Given the description of an element on the screen output the (x, y) to click on. 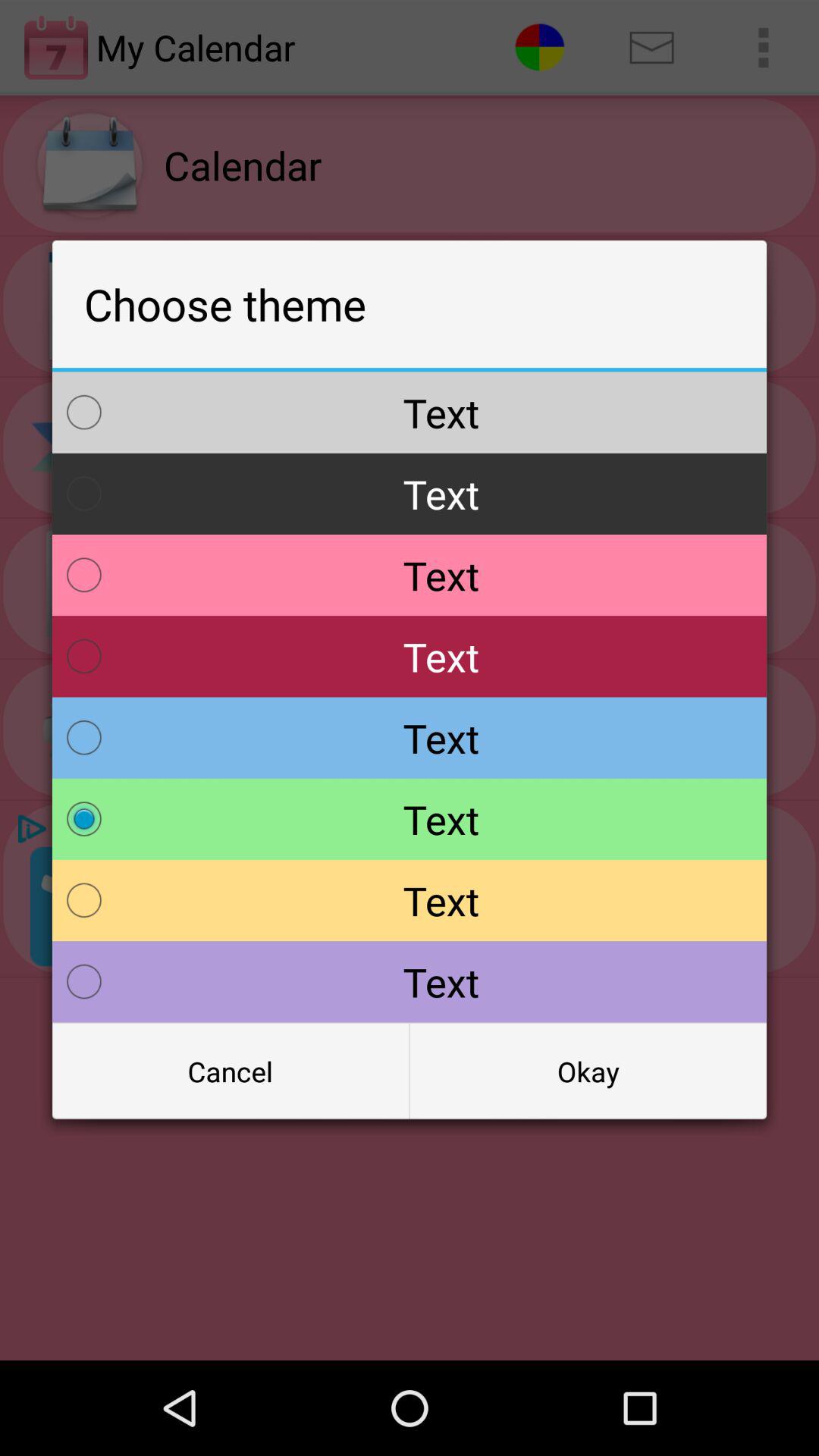
press item to the right of the cancel button (588, 1071)
